Given the description of an element on the screen output the (x, y) to click on. 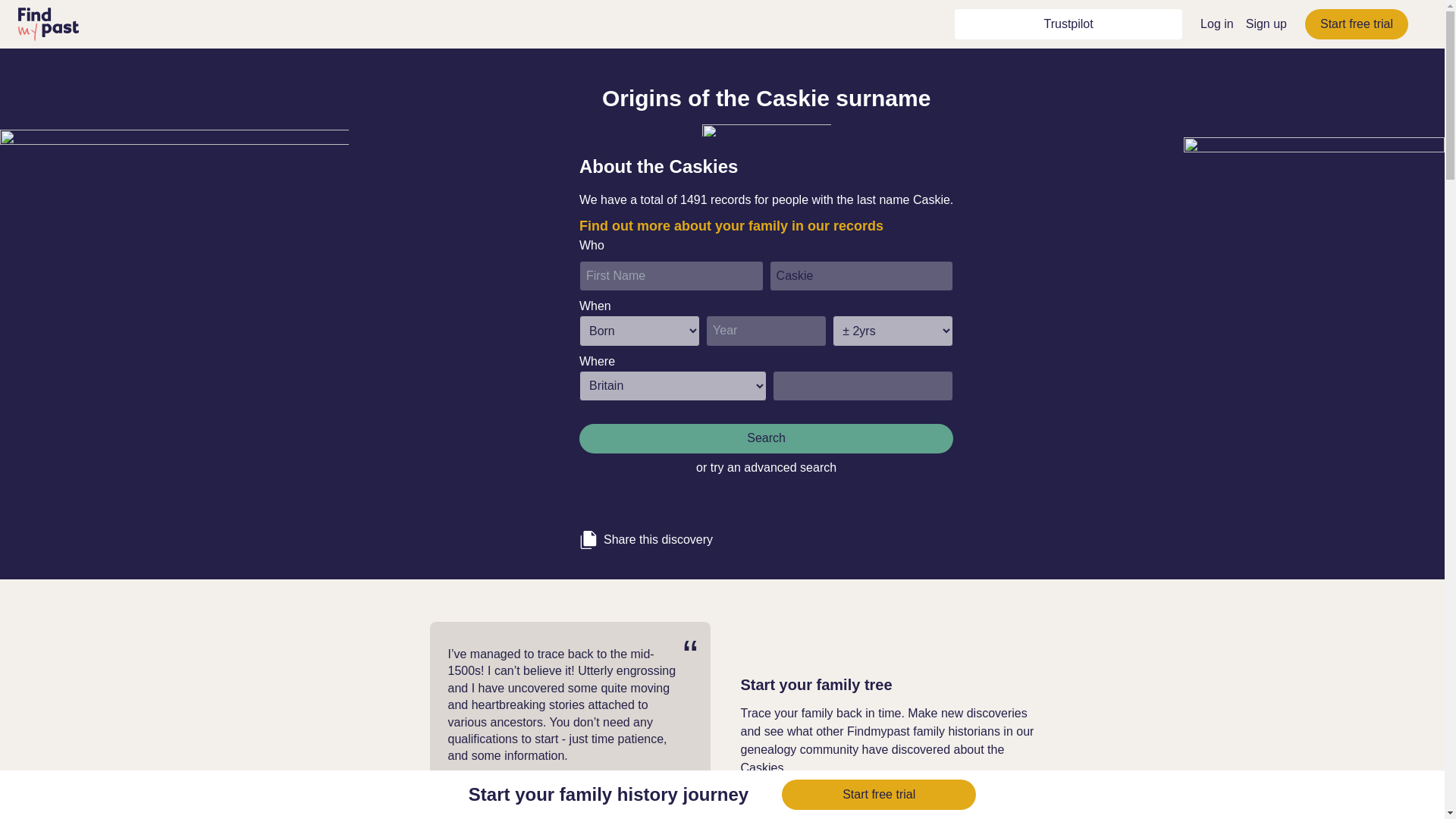
Share this discovery (766, 533)
Search (766, 438)
Sign up (1266, 23)
Trustpilot (1068, 23)
Start free trial (1355, 24)
Log in (1216, 23)
Start free trial (878, 794)
Sign up to get started (803, 801)
Caskie (861, 276)
advanced search (789, 467)
